Given the description of an element on the screen output the (x, y) to click on. 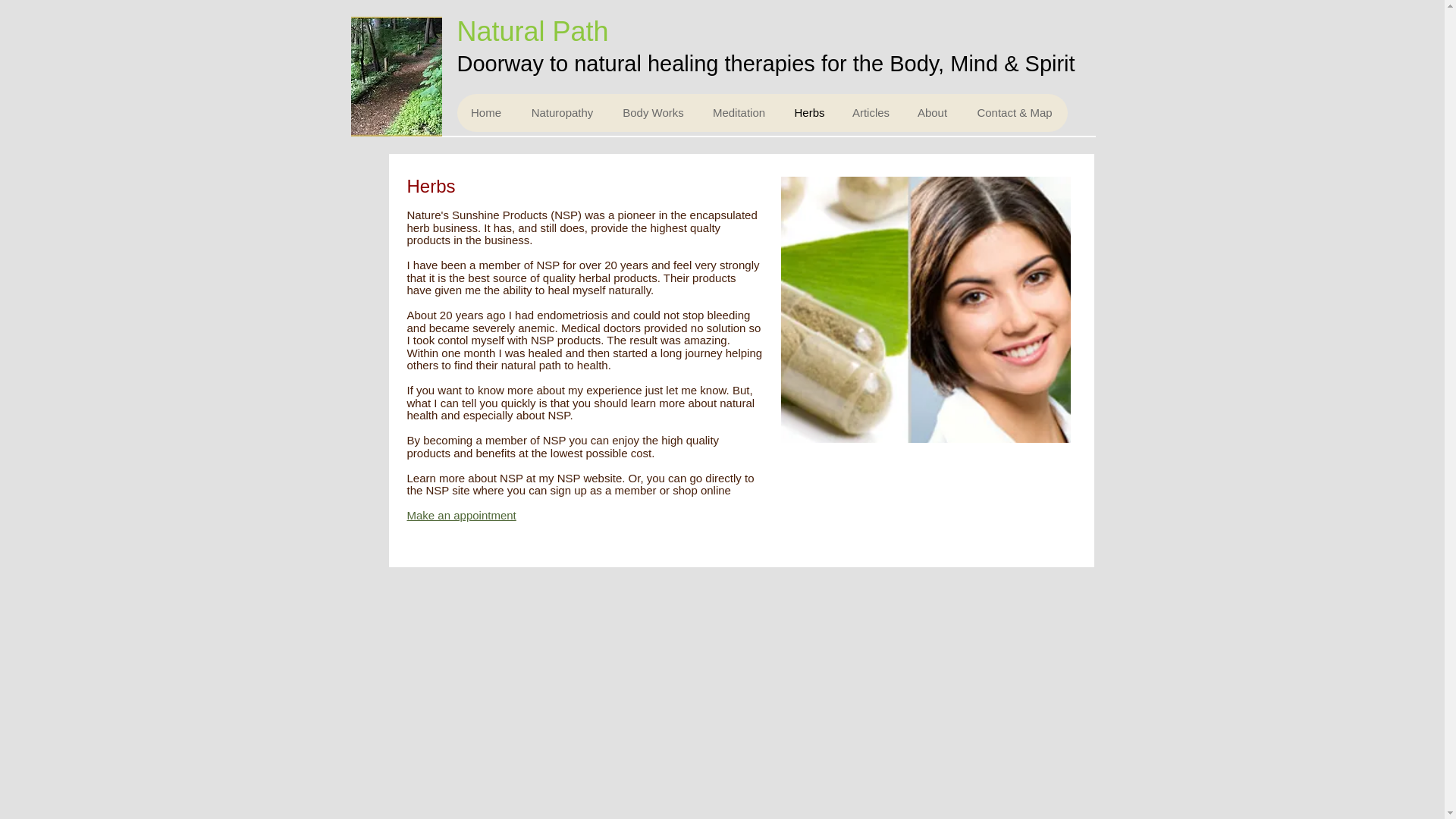
Body Works (652, 112)
Meditation (738, 112)
Naturopathy (561, 112)
Herbs (808, 112)
Home (486, 112)
About (931, 112)
CompanyOverview.jpg (925, 309)
Make an appointment (460, 514)
